Given the description of an element on the screen output the (x, y) to click on. 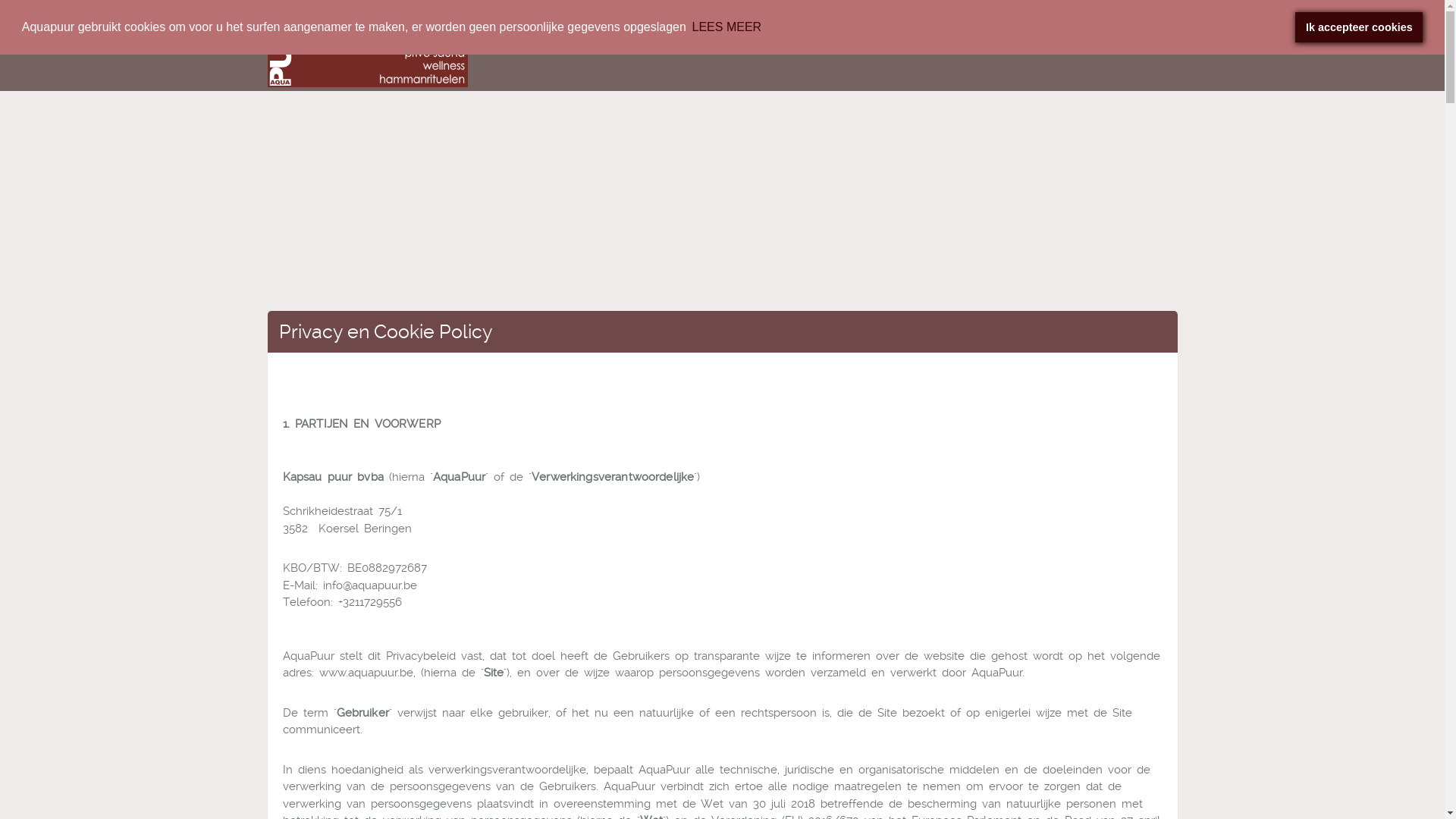
Home Element type: text (614, 20)
Tarieven  Element type: text (1035, 20)
Prive sauna Puur & Aqua  Element type: text (832, 20)
Ik accepteer cookies Element type: text (1358, 27)
LEES MEER Element type: text (726, 26)
Beauty & Kapsalon  Element type: text (953, 20)
Aquapuur & Cadeaubon  Element type: text (698, 20)
Arrangementen Element type: text (1104, 20)
